Given the description of an element on the screen output the (x, y) to click on. 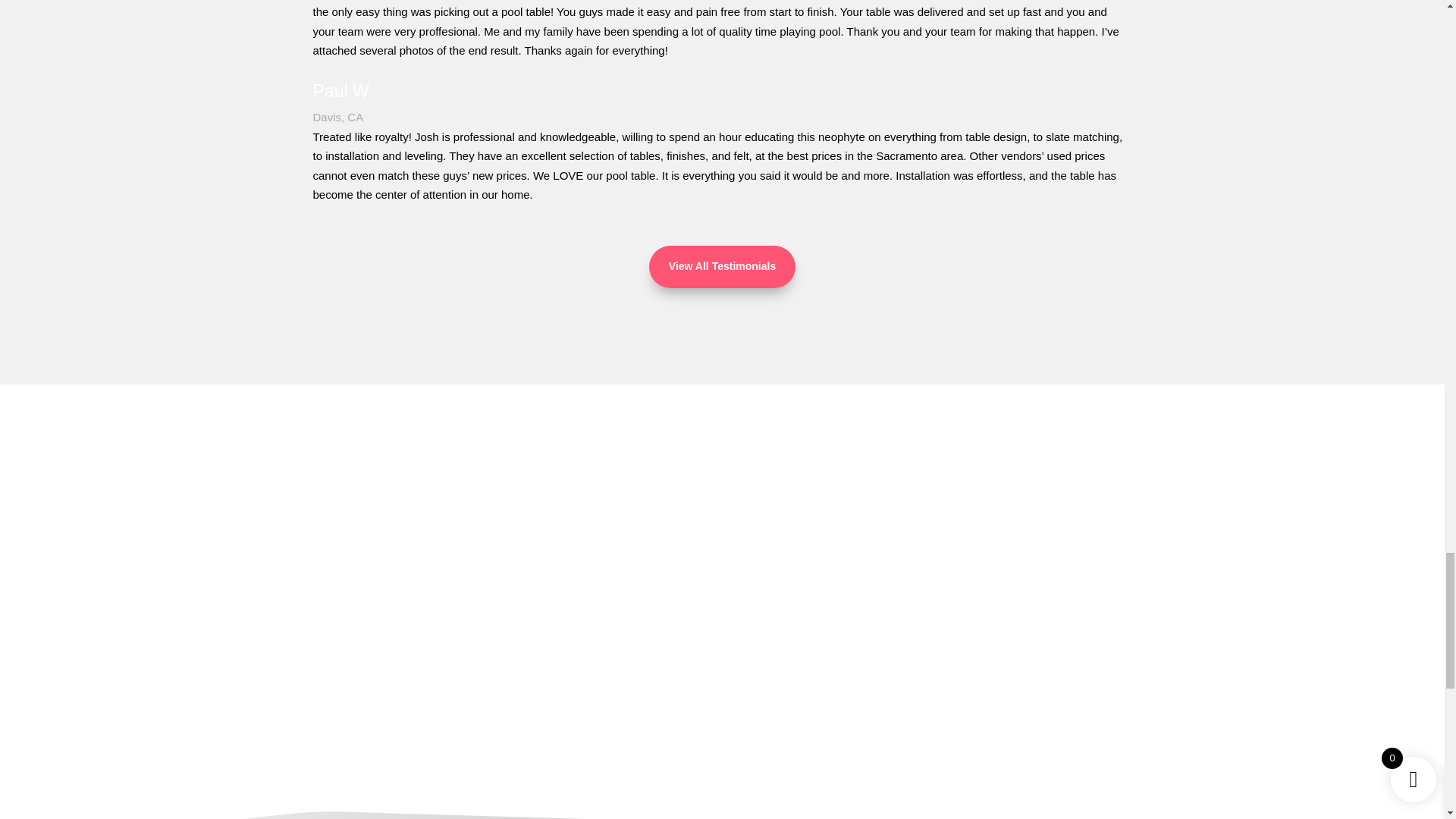
View All Testimonials (721, 266)
